Given the description of an element on the screen output the (x, y) to click on. 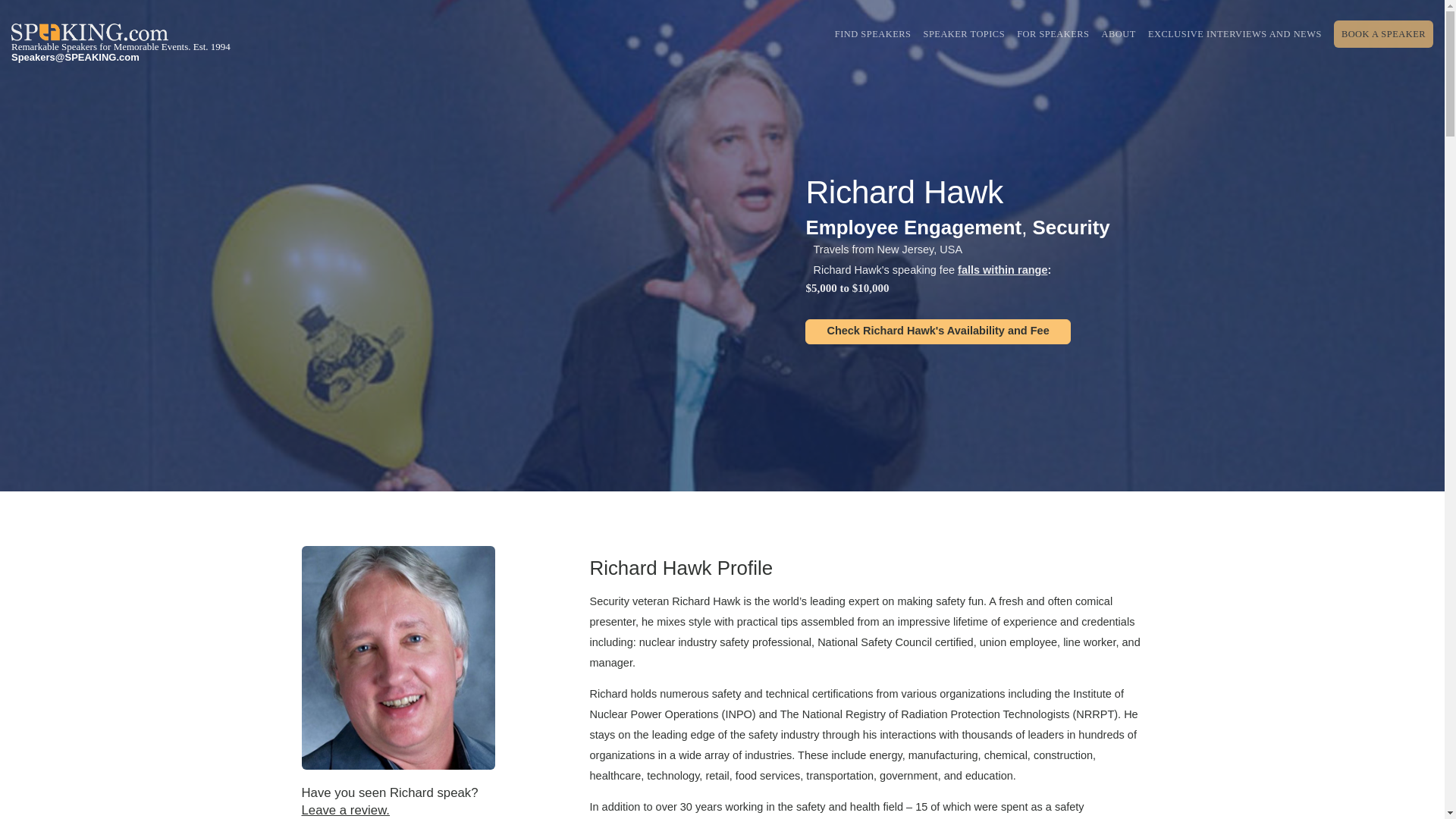
BOOK A SPEAKER (1382, 33)
EXCLUSIVE INTERVIEWS AND NEWS (1235, 33)
ABOUT (1118, 33)
Check Richard Hawk's Availability and Fee (937, 331)
FOR SPEAKERS (1052, 33)
SPEAKER TOPICS (964, 33)
Security (1070, 227)
Leave a review. (345, 810)
Employee Engagement (913, 227)
FIND SPEAKERS (872, 33)
